Given the description of an element on the screen output the (x, y) to click on. 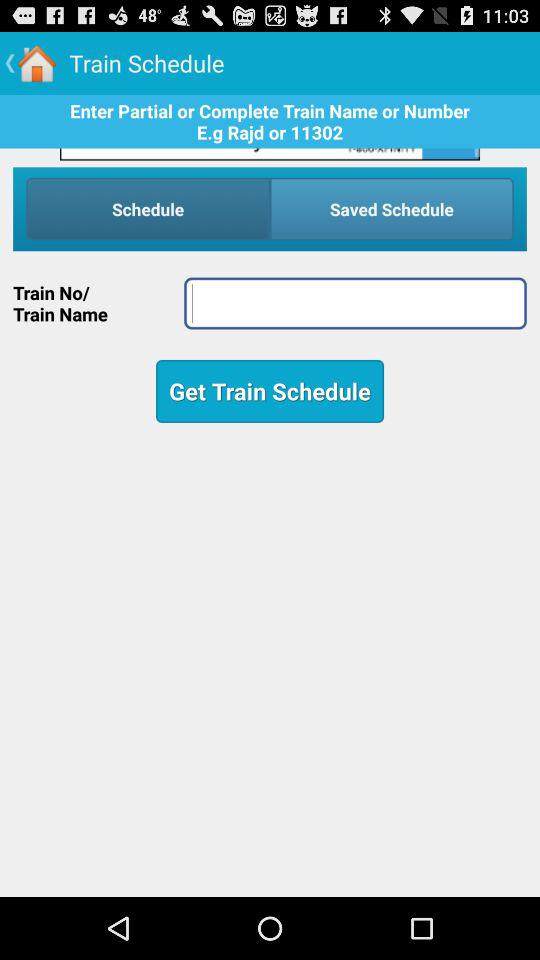
name field (355, 303)
